Given the description of an element on the screen output the (x, y) to click on. 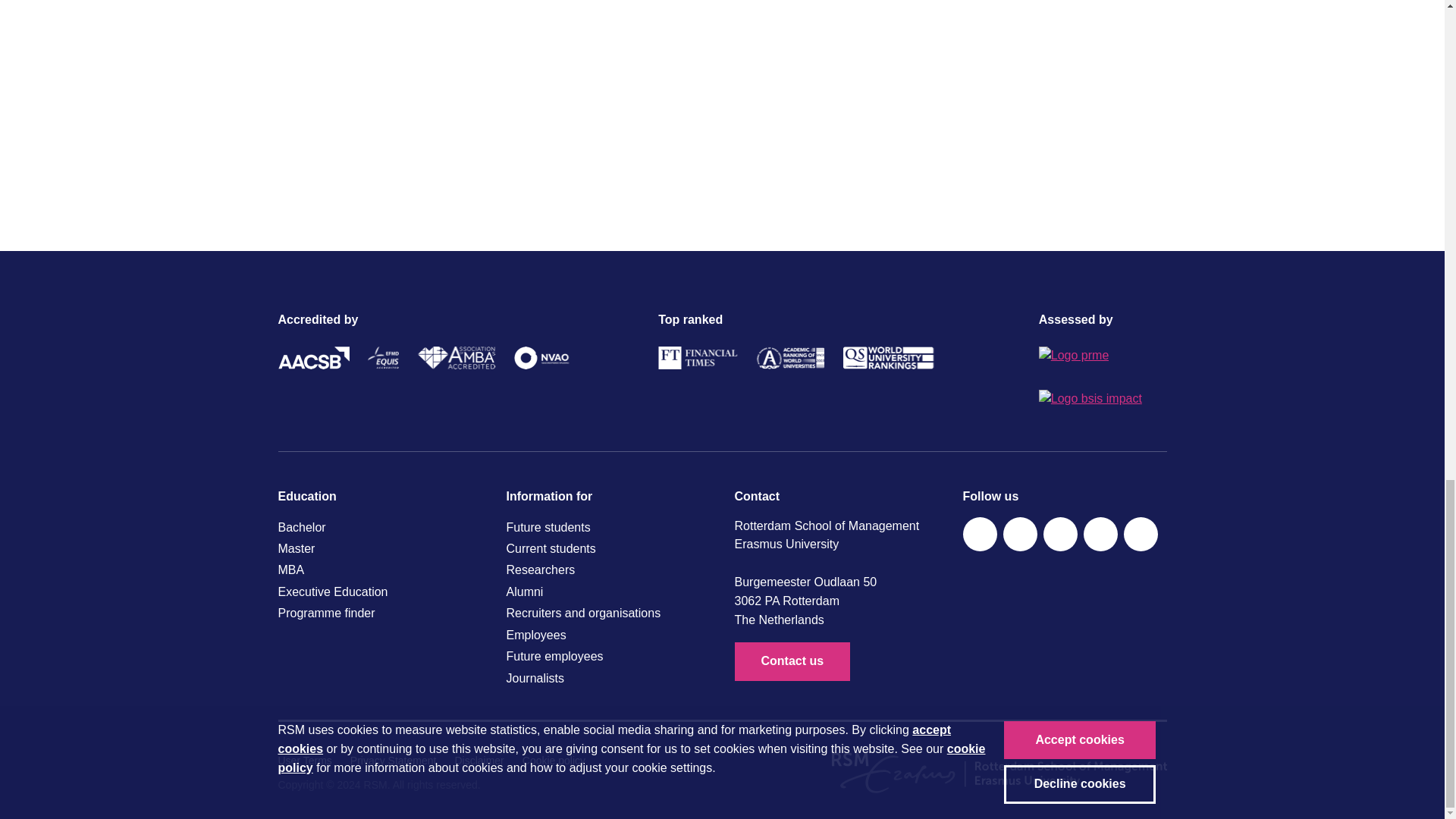
Master (379, 548)
Bachelor (379, 527)
Executive Education (379, 591)
Programme finder (379, 613)
MBA (379, 569)
